Given the description of an element on the screen output the (x, y) to click on. 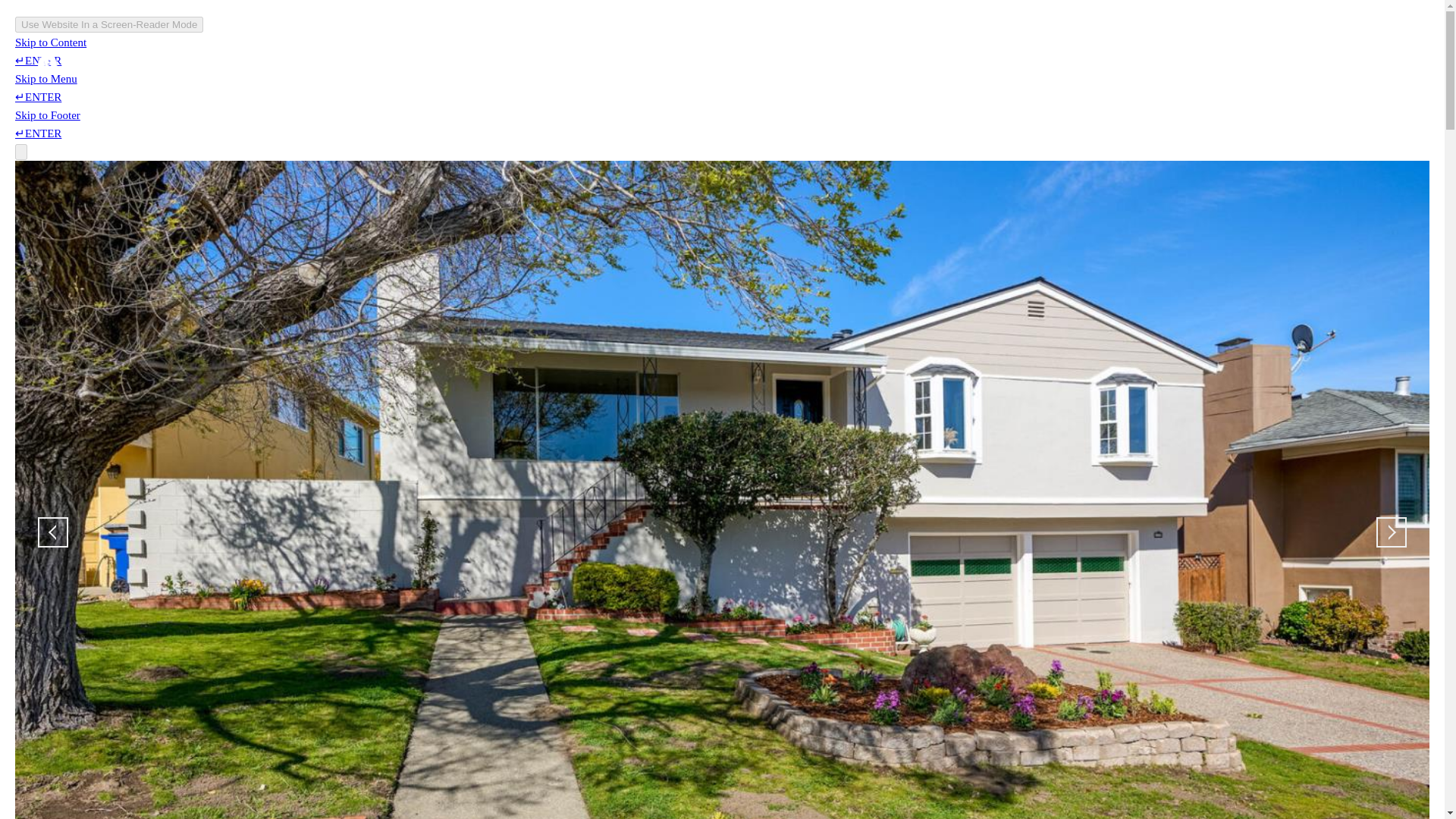
TESTIMONIALS (924, 64)
SCHEDULE A CALL (1152, 64)
SELLERS (829, 64)
BUYERS (753, 64)
MENU (1369, 63)
PROPERTIES (1032, 64)
